Given the description of an element on the screen output the (x, y) to click on. 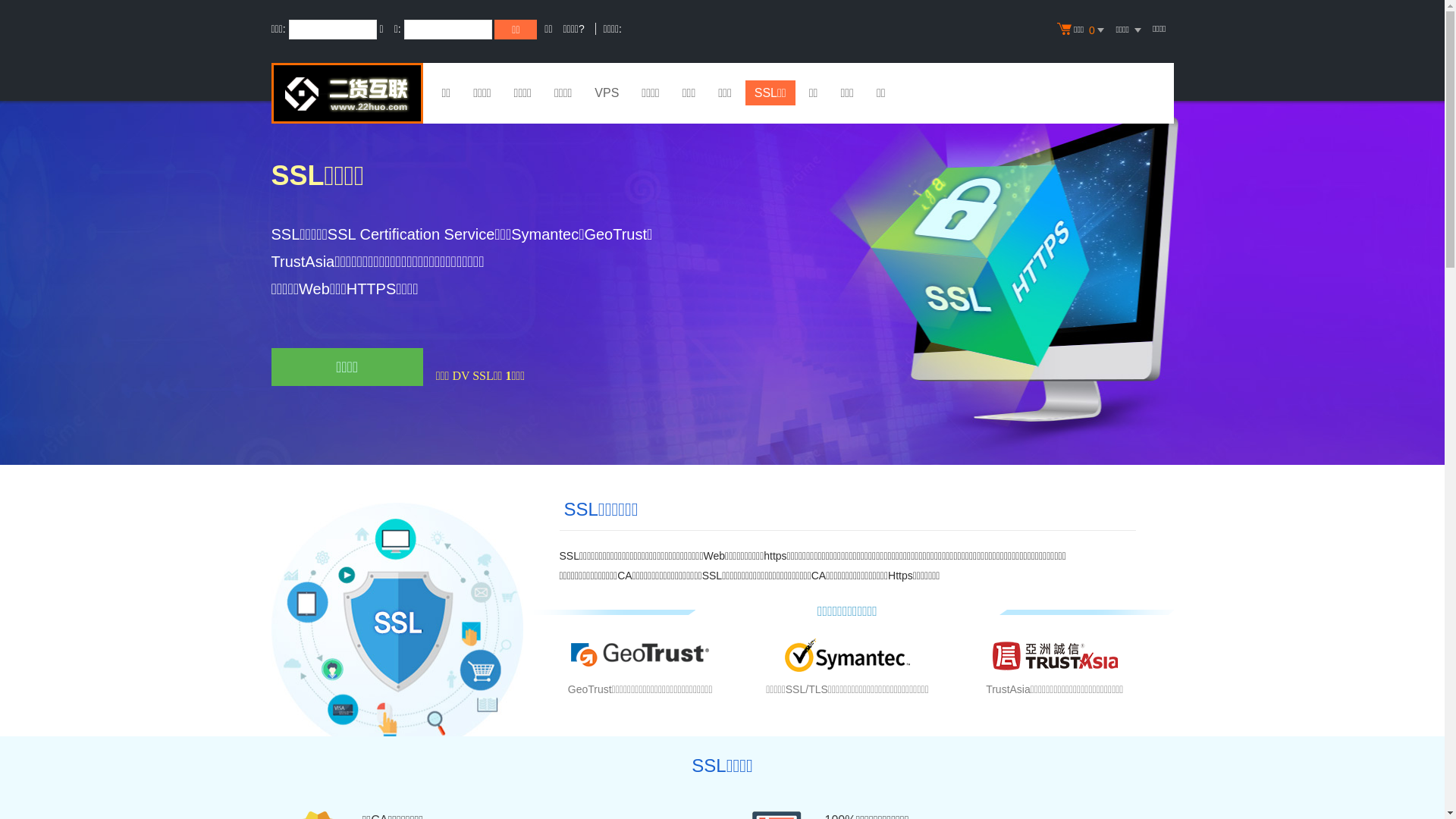
VPS Element type: text (606, 94)
